Given the description of an element on the screen output the (x, y) to click on. 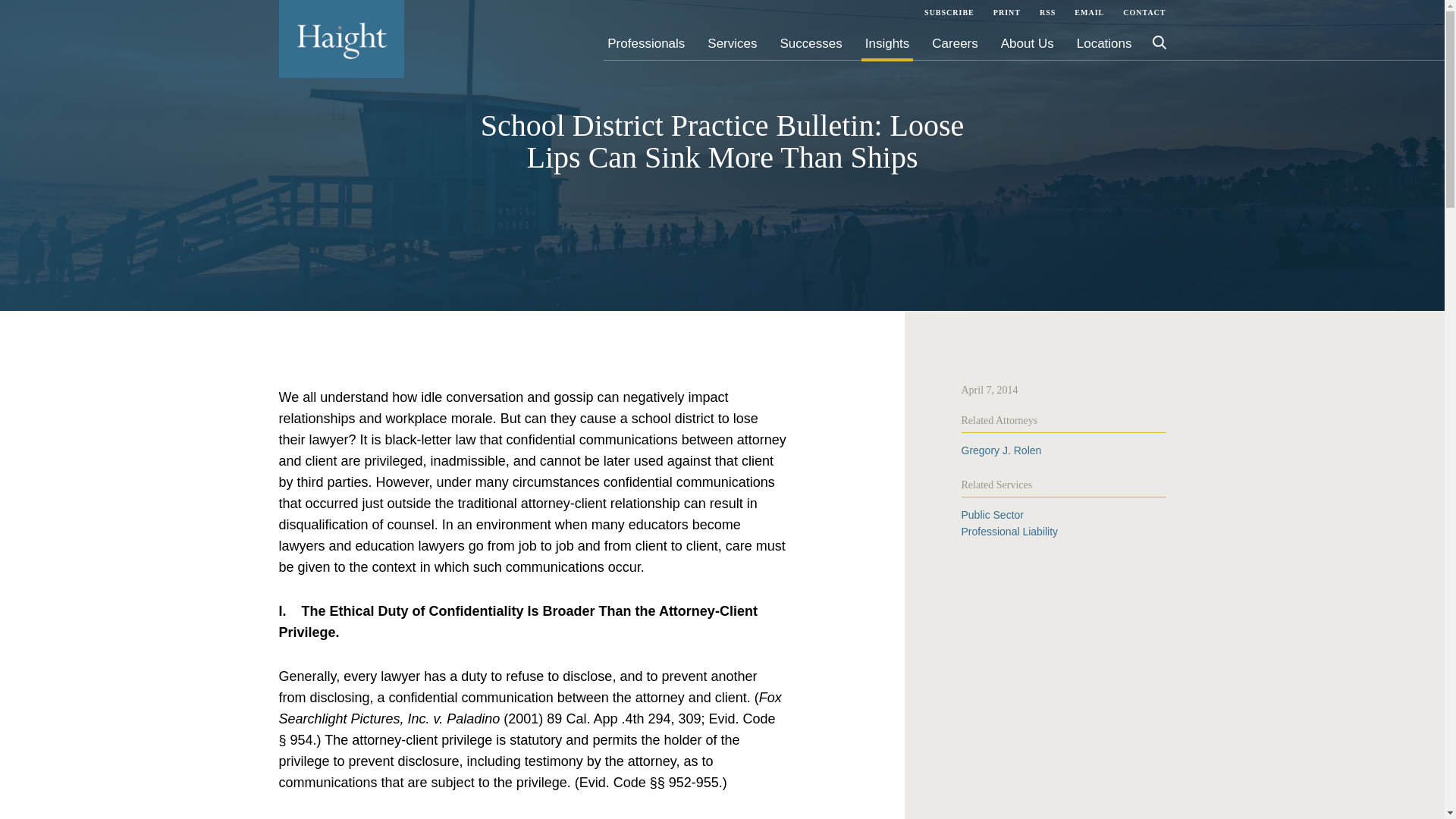
Services (731, 43)
subscribe (949, 12)
Professionals (646, 43)
PRINT (1006, 12)
Careers (954, 43)
Professional (1009, 531)
SUBSCRIBE (949, 12)
Locations (1104, 43)
Contact (1140, 12)
Gregory J. Rolen (1001, 450)
Email (1089, 12)
Successes (810, 43)
Public (991, 514)
Rss (1047, 12)
